Given the description of an element on the screen output the (x, y) to click on. 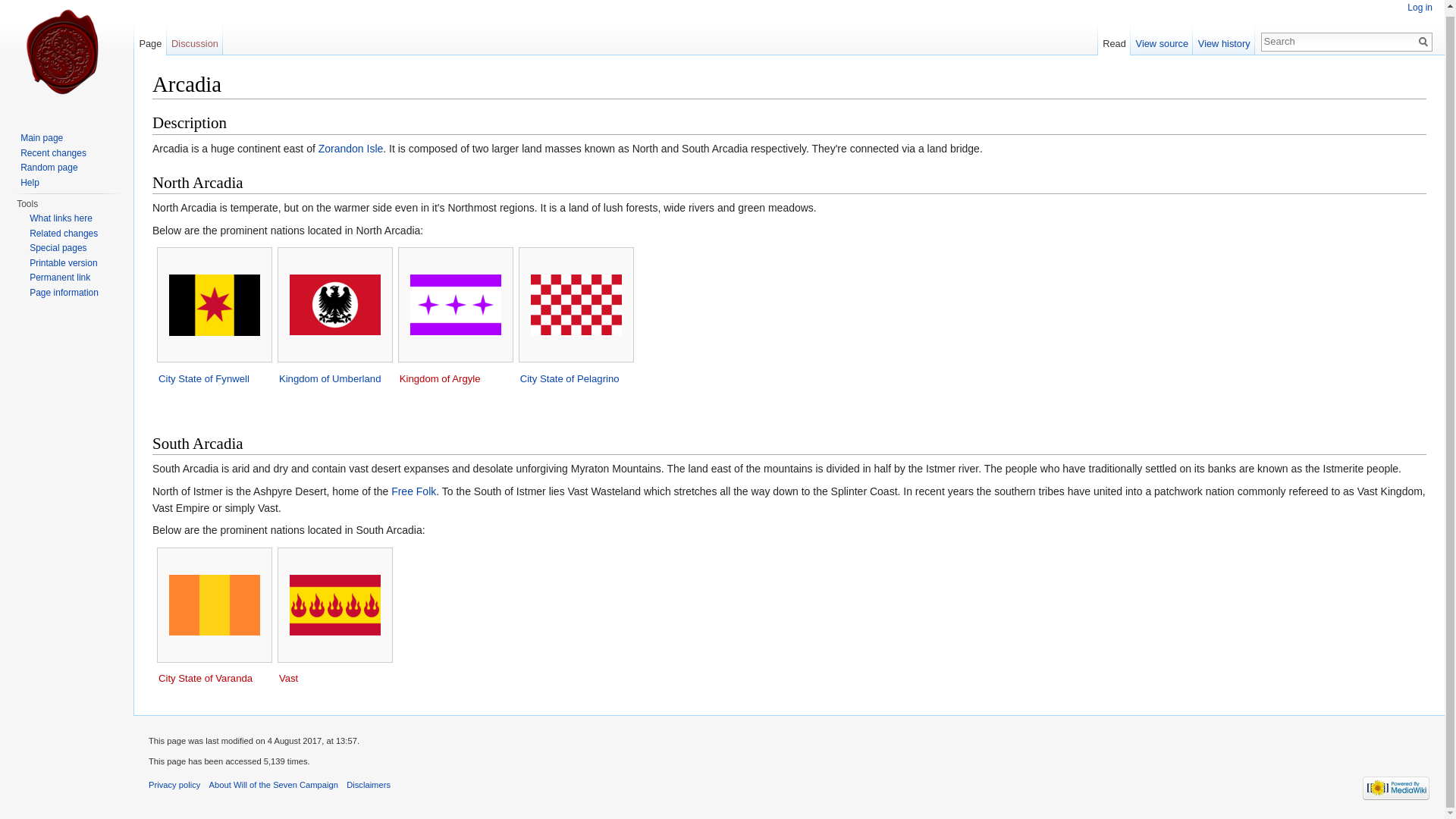
View source (1161, 40)
City State of Fynwell (203, 378)
Zorandon Isle (351, 148)
Vast (288, 677)
Permanent link (59, 276)
Related changes (63, 233)
Go (1423, 41)
Read (1114, 40)
Special pages (57, 247)
What links here (61, 217)
View history (1223, 40)
About Will of the Seven Campaign (273, 784)
Zorandon Isle (351, 148)
Log in (1419, 7)
Visit the main page (66, 58)
